Given the description of an element on the screen output the (x, y) to click on. 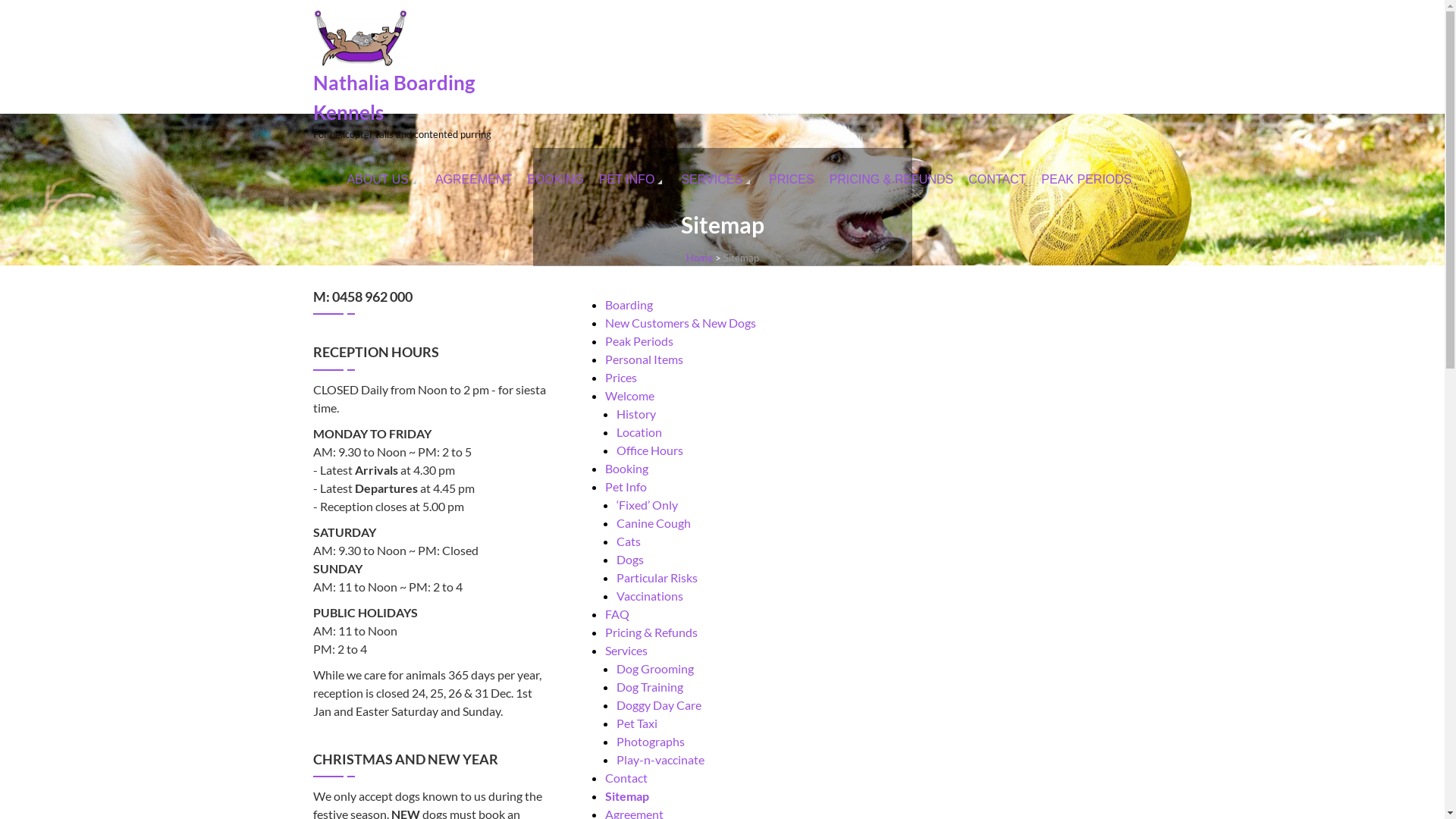
Photographs Element type: text (650, 741)
Vaccinations Element type: text (649, 595)
Contact Element type: text (626, 777)
Personal Items Element type: text (644, 358)
FAQ Element type: text (617, 613)
PRICES Element type: text (791, 179)
Play-n-vaccinate Element type: text (660, 759)
Boarding Element type: text (628, 304)
Pet Taxi Element type: text (636, 722)
Cats Element type: text (628, 540)
Location Element type: text (639, 431)
Welcome Element type: text (629, 395)
Services Element type: text (626, 650)
SERVICES Element type: text (716, 179)
Particular Risks Element type: text (656, 577)
Pricing & Refunds Element type: text (651, 631)
Pet Info Element type: text (625, 486)
Dogs Element type: text (629, 559)
ABOUT US Element type: text (383, 179)
Doggy Day Care Element type: text (658, 704)
Peak Periods Element type: text (639, 340)
Dog Grooming Element type: text (654, 668)
Office Hours Element type: text (649, 449)
Sitemap Element type: text (627, 795)
Dog Training Element type: text (649, 686)
AGREEMENT Element type: text (473, 179)
CONTACT Element type: text (997, 179)
Home Element type: text (698, 257)
Booking Element type: text (626, 468)
Prices Element type: text (621, 377)
PEAK PERIODS Element type: text (1086, 179)
PRICING & REFUNDS Element type: text (891, 179)
BOOKING Element type: text (555, 179)
New Customers & New Dogs Element type: text (680, 322)
Canine Cough Element type: text (653, 522)
PET INFO Element type: text (632, 179)
History Element type: text (635, 413)
